Given the description of an element on the screen output the (x, y) to click on. 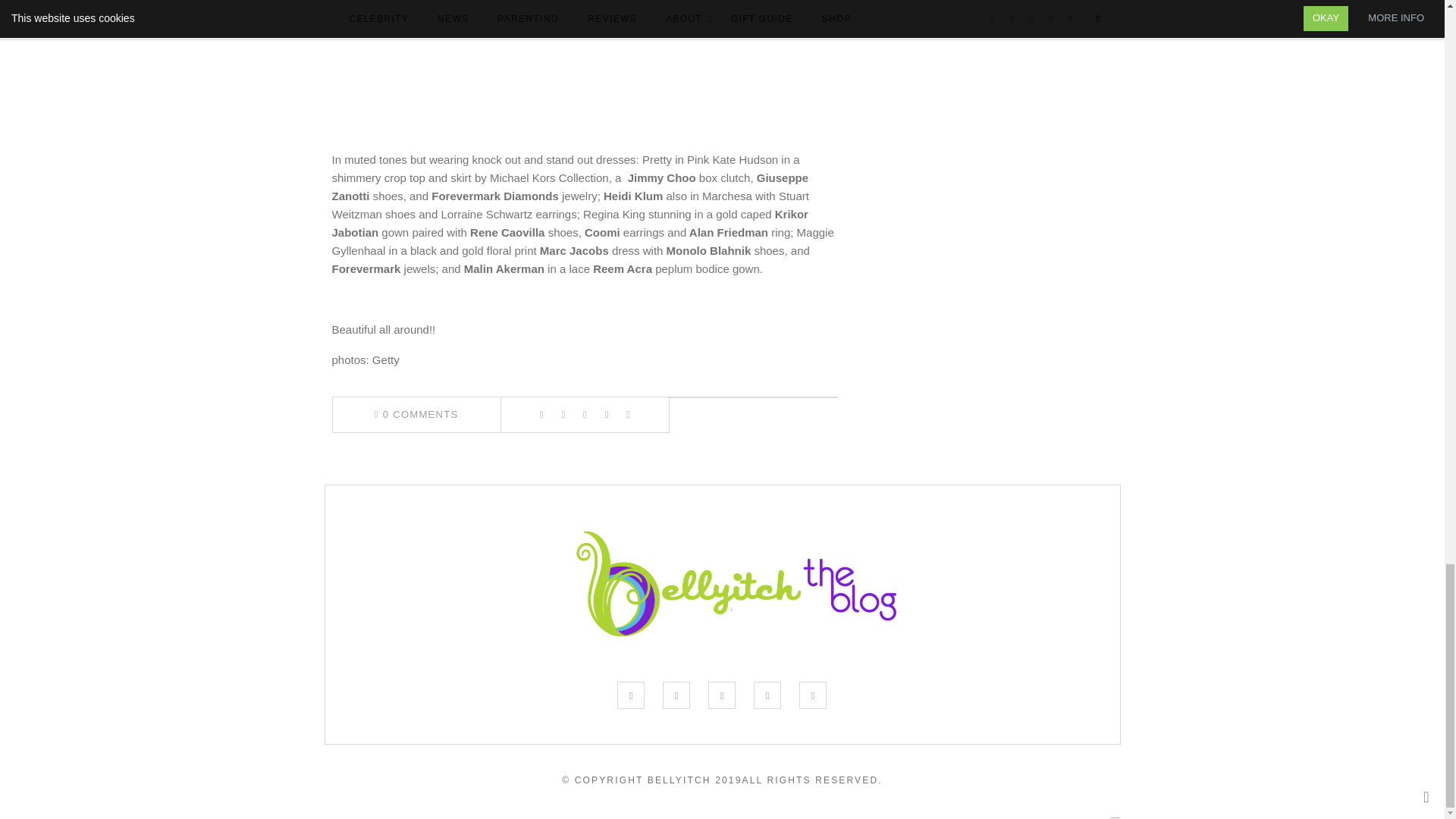
Twitter (562, 414)
Pinterest (767, 695)
Facebook (631, 695)
0 COMMENTS (416, 414)
Pinterest (584, 414)
Instagram (721, 695)
Twitter (676, 695)
Facebook (541, 414)
LinkedIn (605, 414)
